Given the description of an element on the screen output the (x, y) to click on. 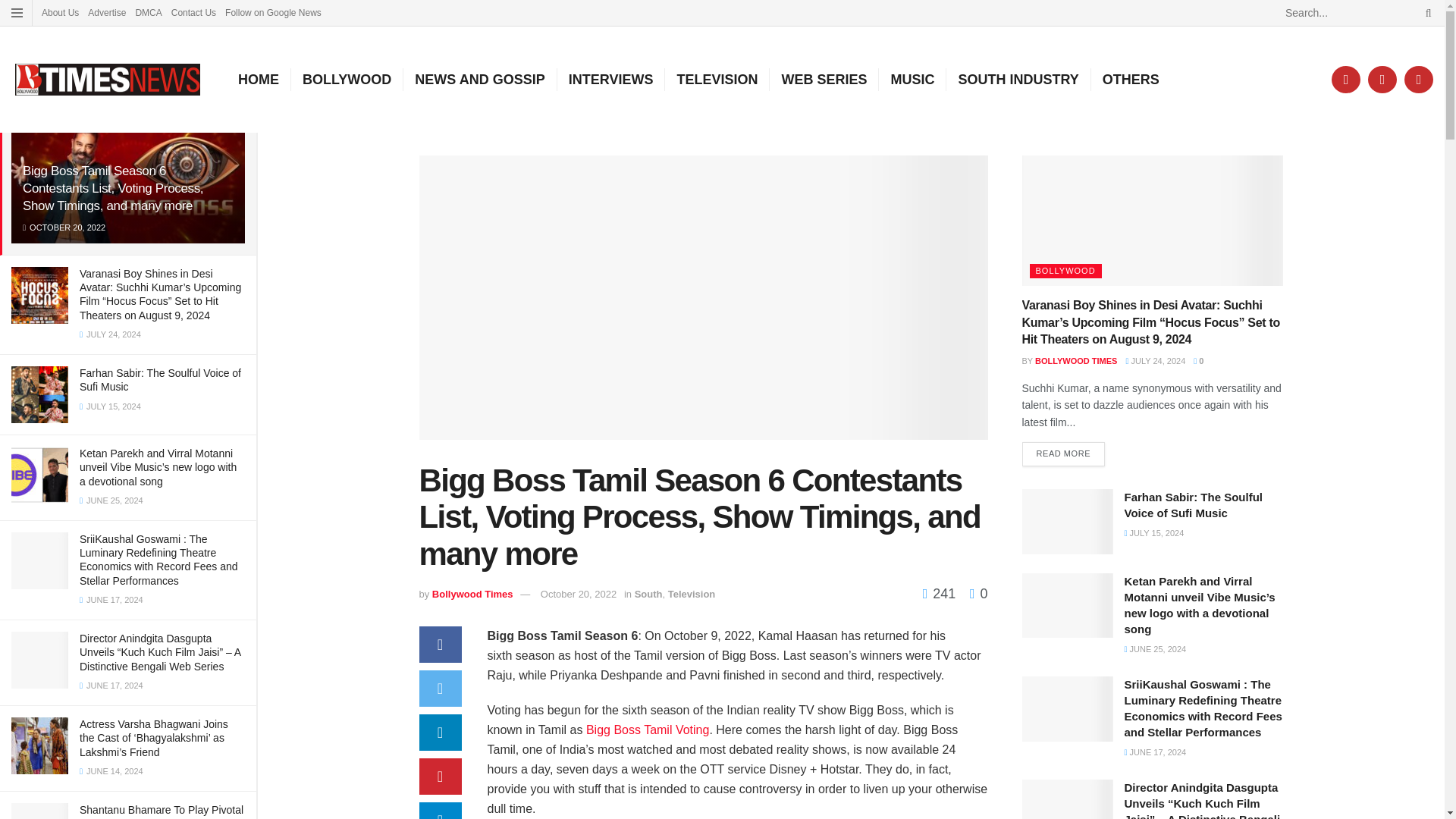
Advertise (106, 12)
DMCA (148, 12)
Filter (227, 99)
Farhan Sabir: The Soulful Voice of Sufi Music (160, 379)
About Us (60, 12)
Follow on Google News (273, 12)
Contact Us (193, 12)
